Given the description of an element on the screen output the (x, y) to click on. 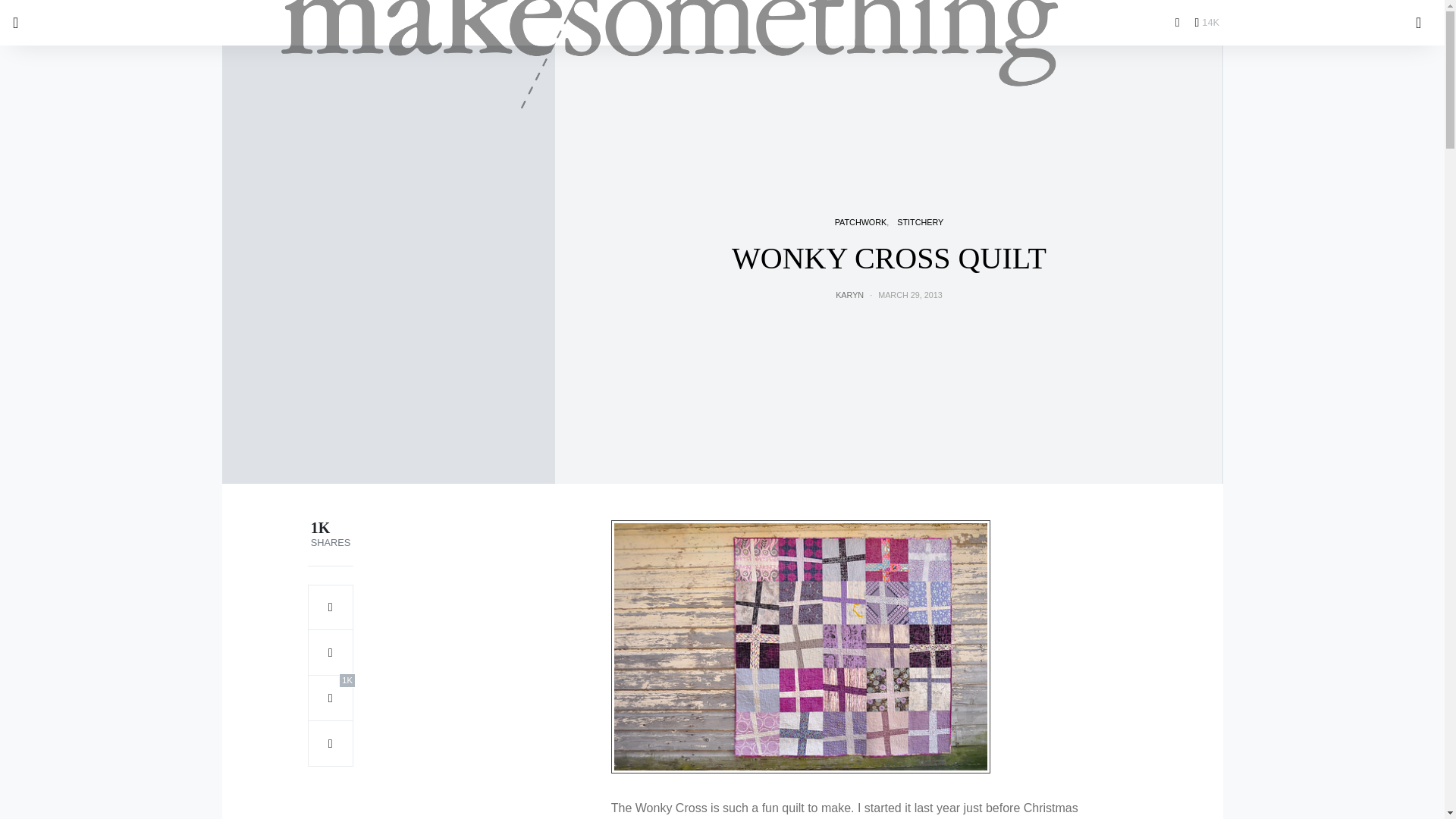
1K (330, 698)
STITCHERY (919, 221)
KARYN (849, 295)
14K (1206, 22)
PATCHWORK (860, 221)
View all posts by karyn (849, 295)
